Given the description of an element on the screen output the (x, y) to click on. 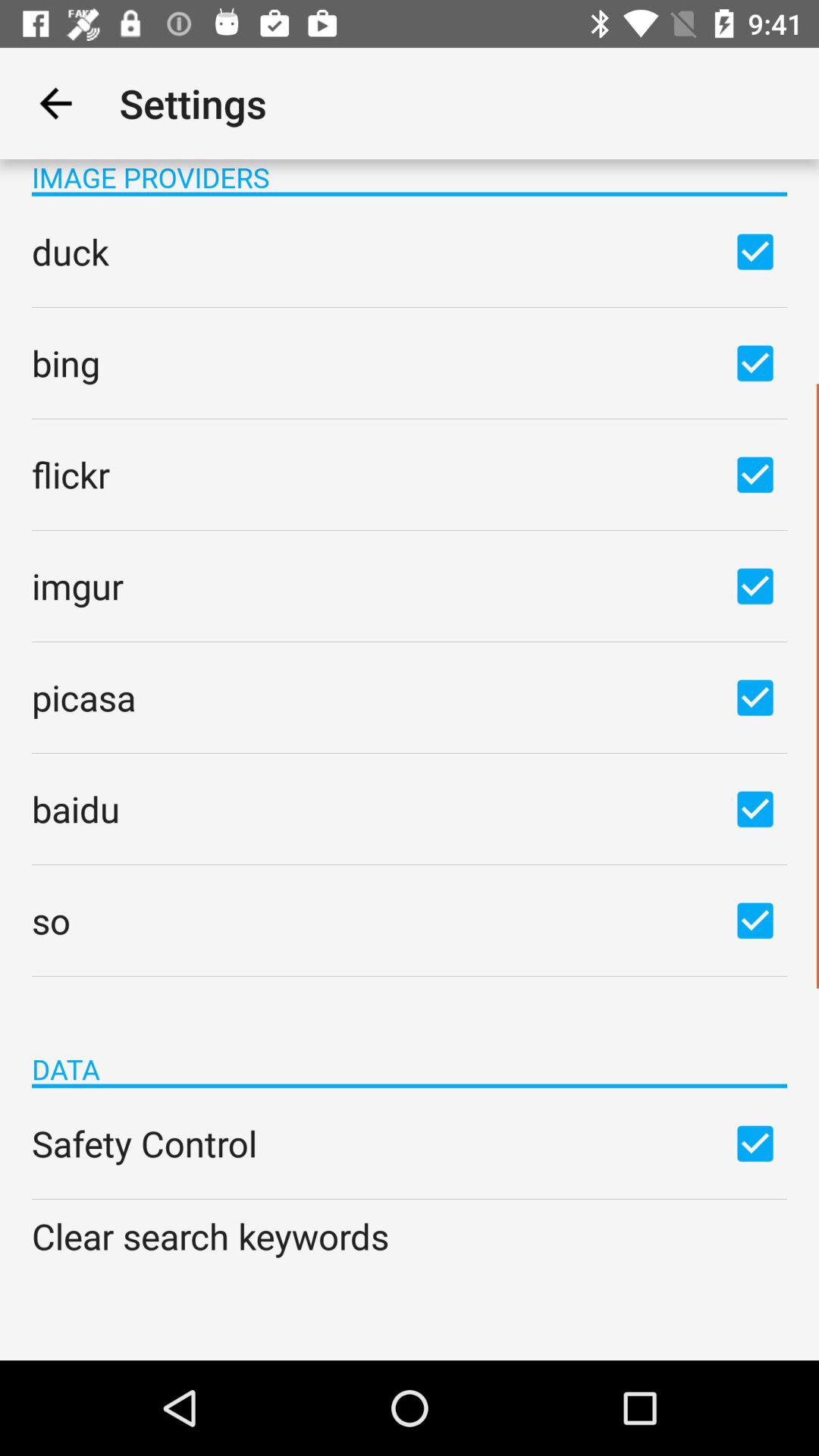
deselect option (755, 474)
